Given the description of an element on the screen output the (x, y) to click on. 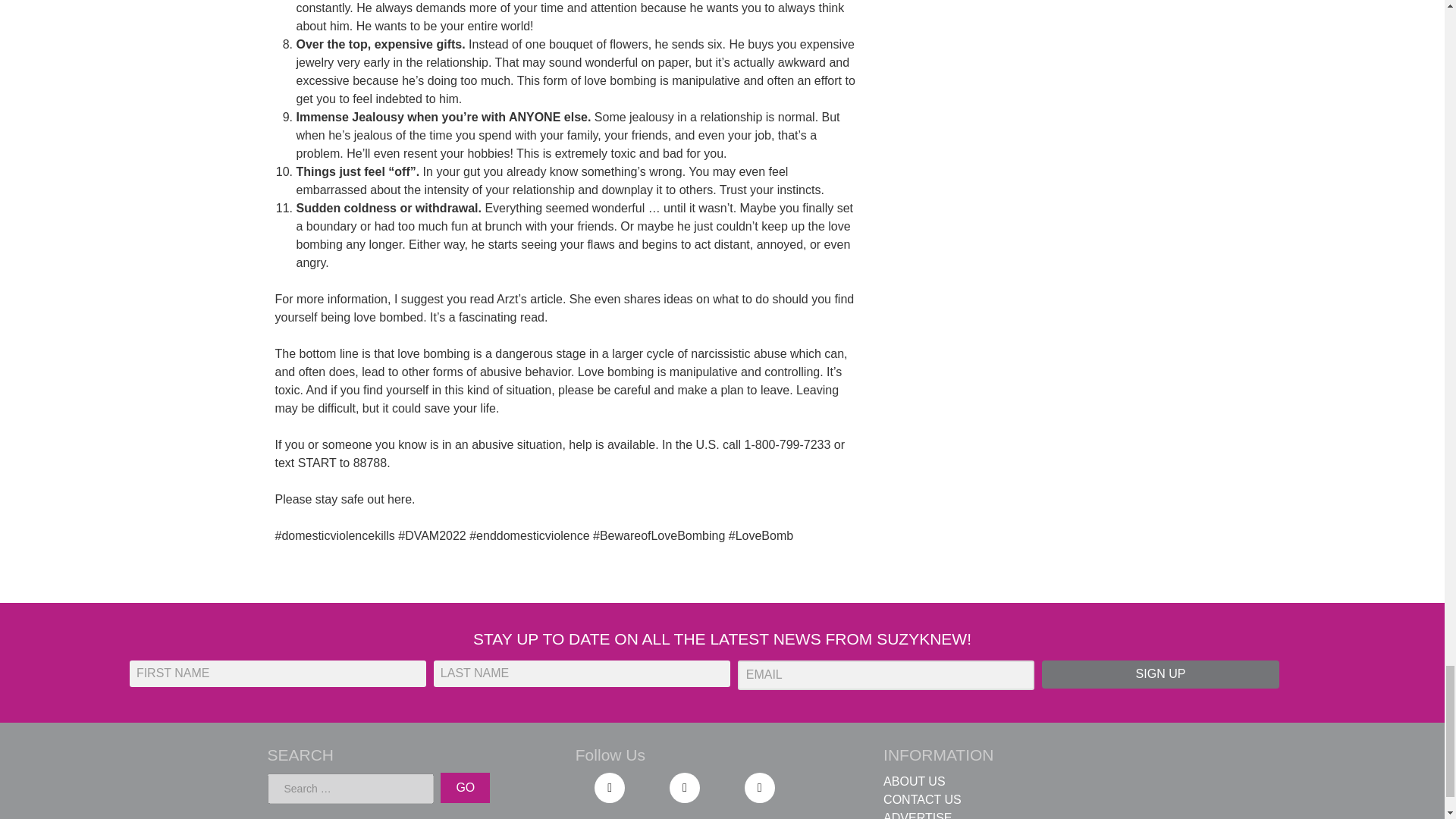
GO (465, 788)
GO (465, 788)
GO (465, 788)
SIGN UP (1160, 674)
